Given the description of an element on the screen output the (x, y) to click on. 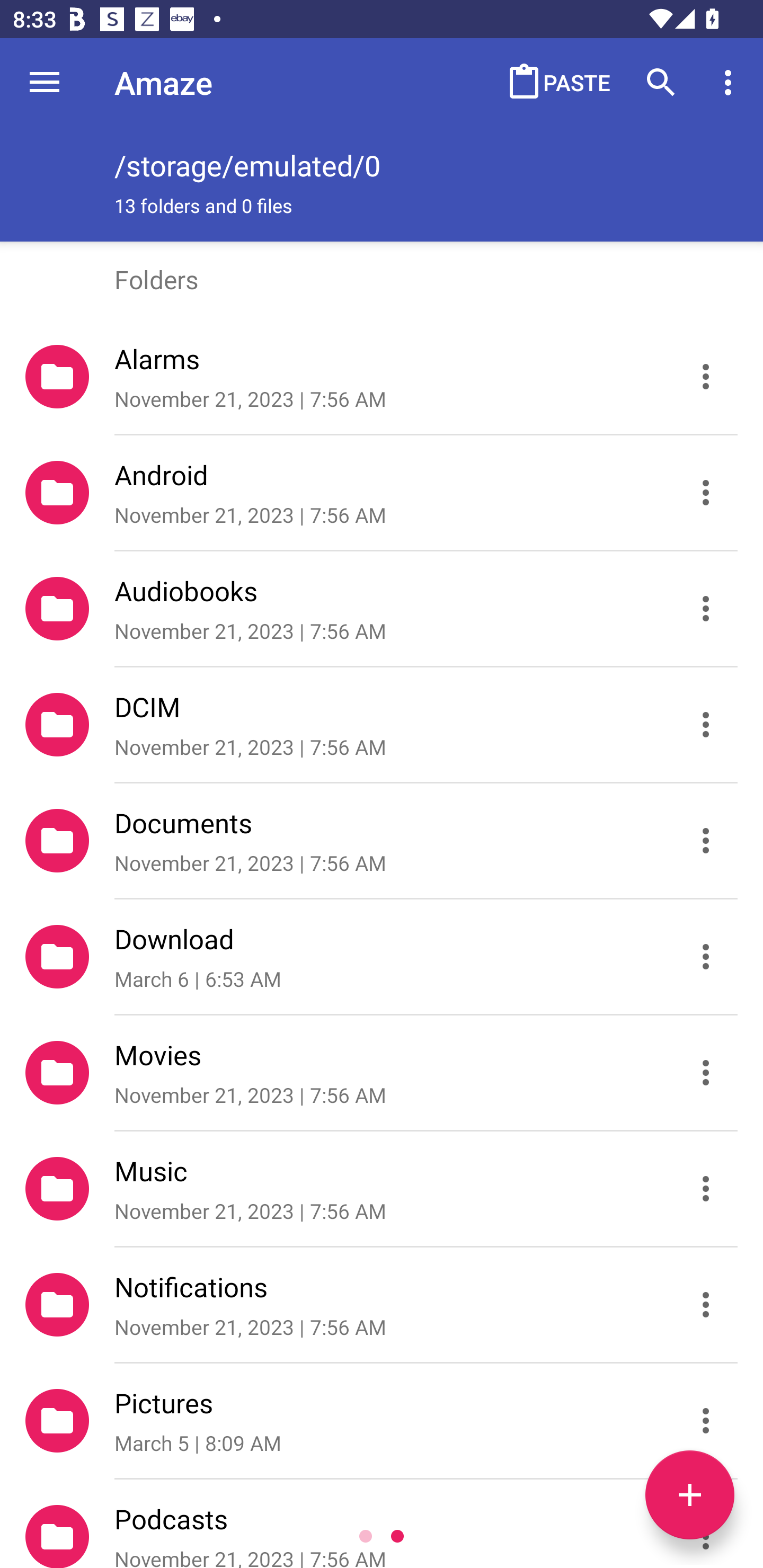
Navigate up (44, 82)
PASTE (554, 81)
Search (661, 81)
More options (731, 81)
Alarms November 21, 2023 | 7:56 AM (381, 376)
Android November 21, 2023 | 7:56 AM (381, 492)
Audiobooks November 21, 2023 | 7:56 AM (381, 608)
DCIM November 21, 2023 | 7:56 AM (381, 724)
Documents November 21, 2023 | 7:56 AM (381, 841)
Download March 6 | 6:53 AM (381, 957)
Movies November 21, 2023 | 7:56 AM (381, 1073)
Music November 21, 2023 | 7:56 AM (381, 1189)
Notifications November 21, 2023 | 7:56 AM (381, 1305)
Pictures March 5 | 8:09 AM (381, 1421)
Podcasts November 21, 2023 | 7:56 AM (381, 1524)
